Given the description of an element on the screen output the (x, y) to click on. 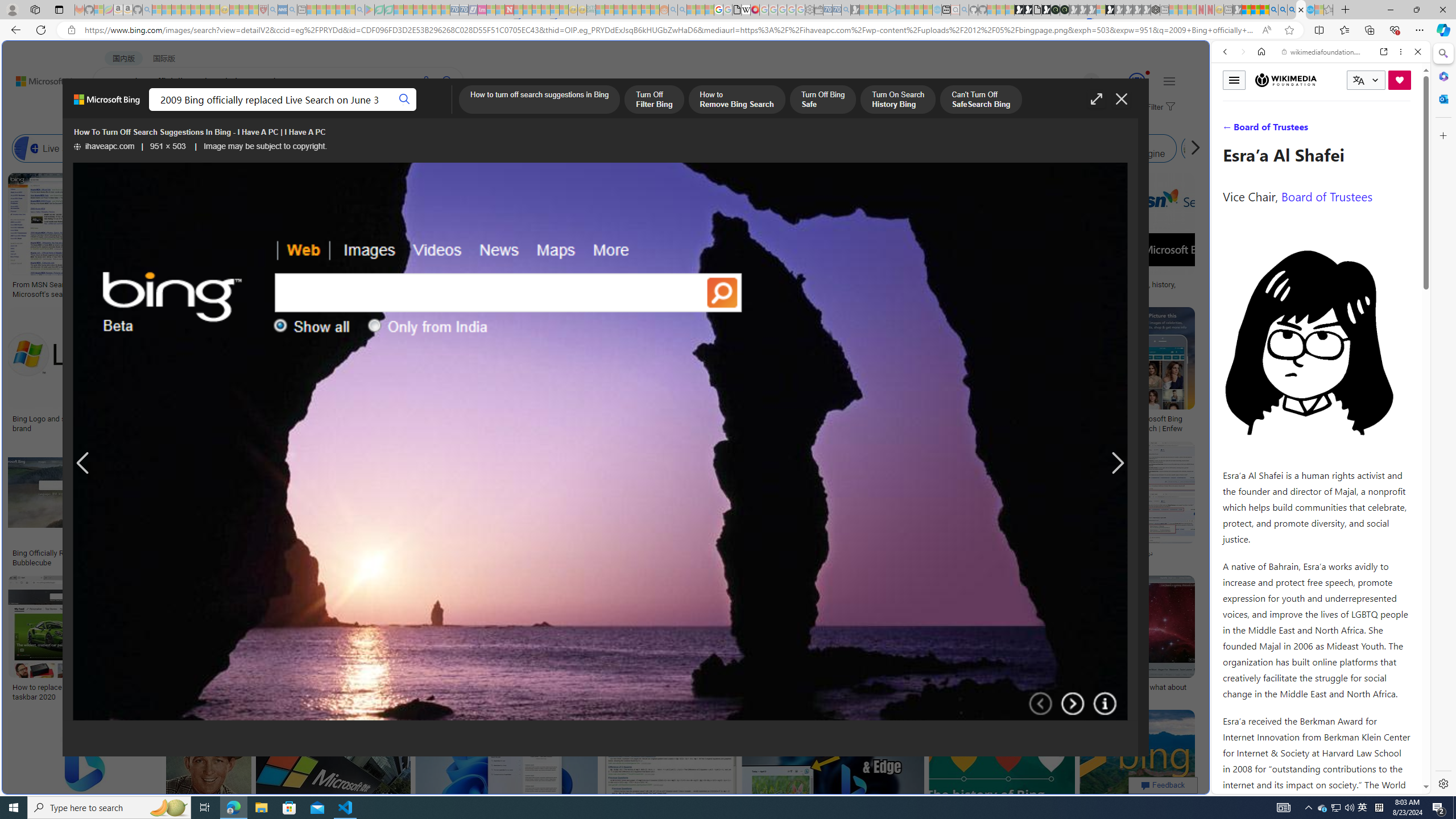
Board of Trustees (1326, 195)
Settings and quick links (1168, 80)
Microsoft Bing Search | Enfew (1162, 423)
